Given the description of an element on the screen output the (x, y) to click on. 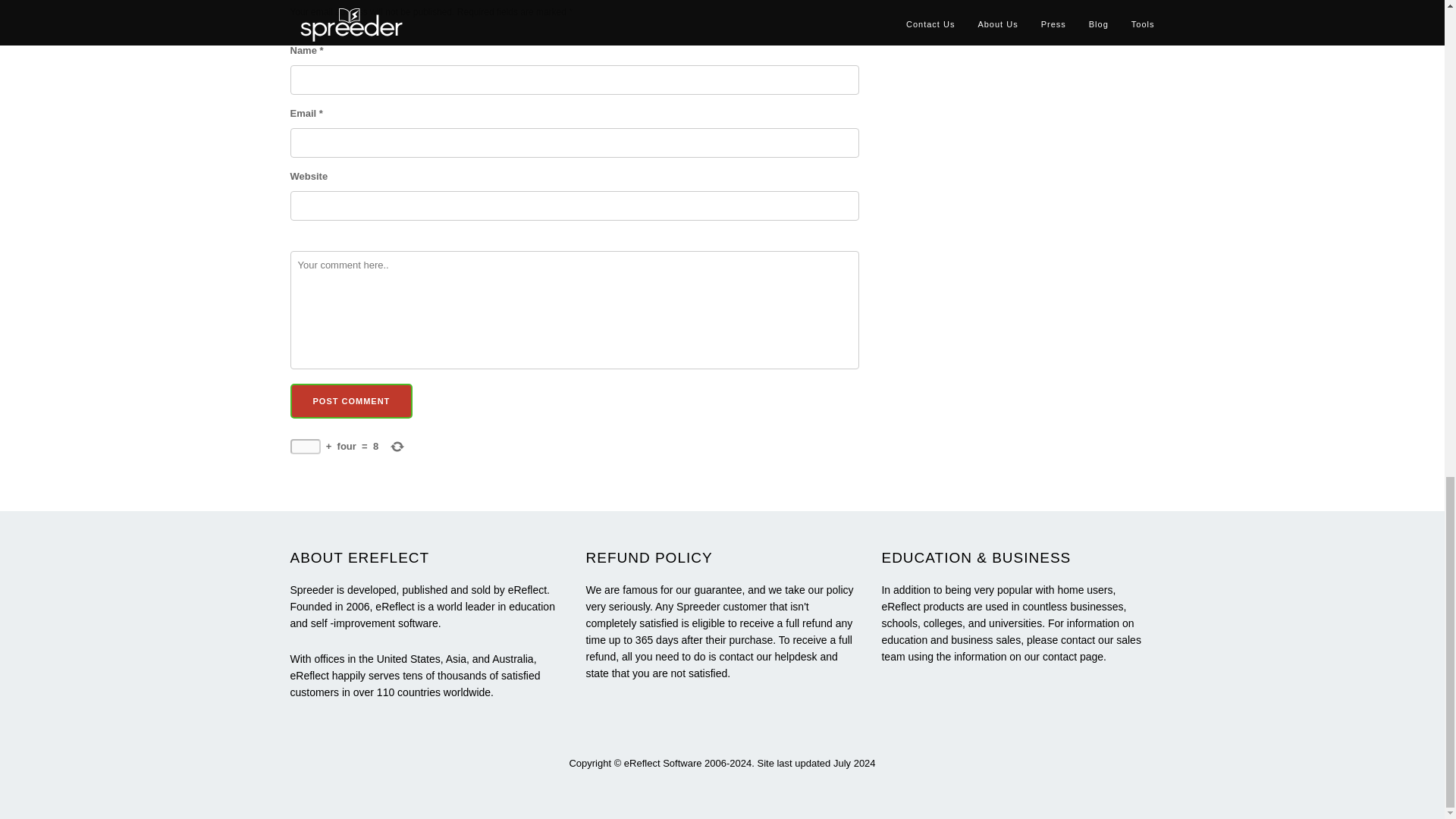
POST COMMENT (350, 401)
